Given the description of an element on the screen output the (x, y) to click on. 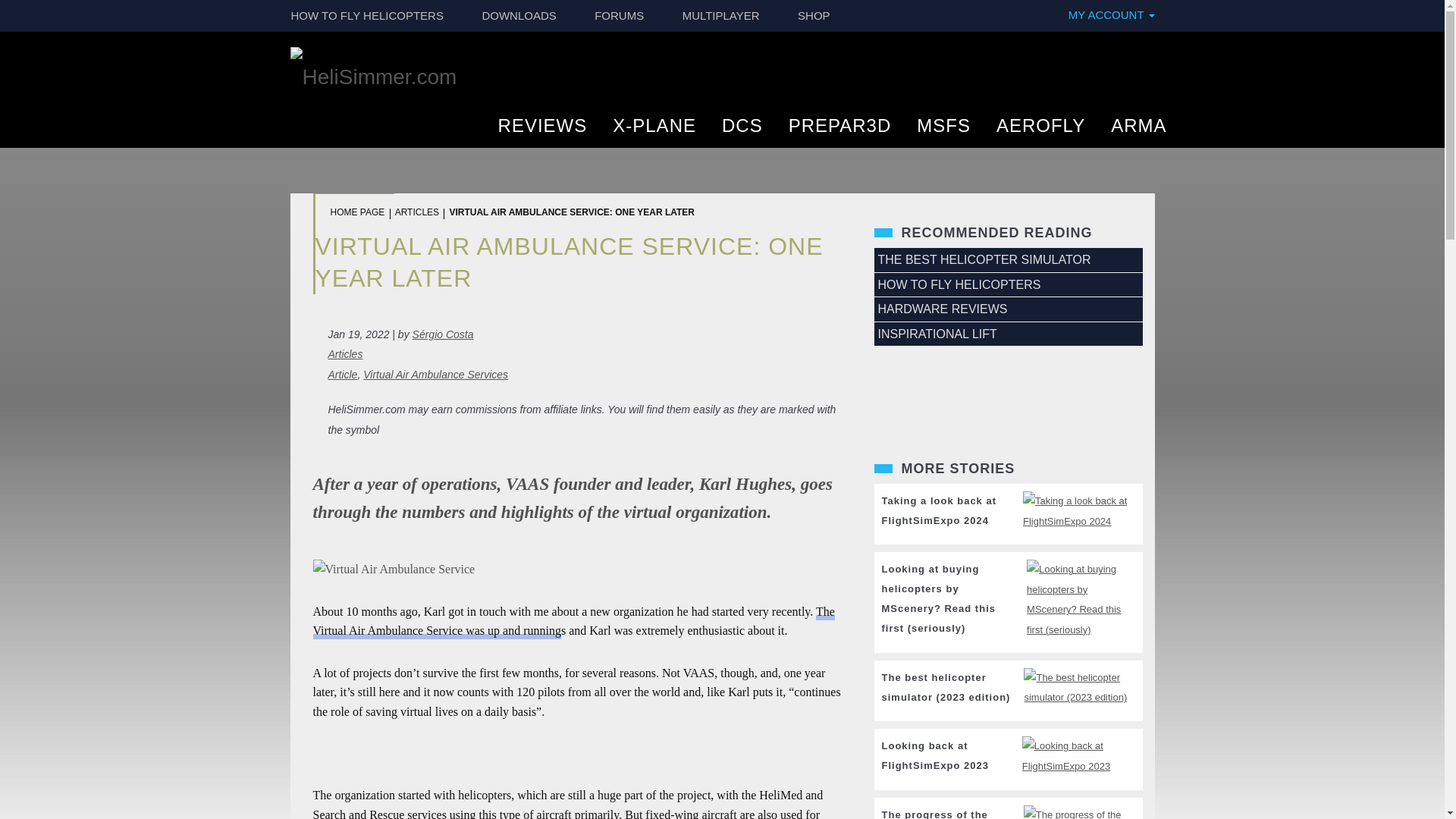
REVIEWS (542, 131)
HOW TO FLY HELICOPTERS (367, 15)
AEROFLY (1040, 131)
MSFS (943, 131)
PREPAR3D (839, 131)
MY ACCOUNT (1109, 15)
DCS (742, 131)
MULTIPLAYER (721, 15)
DOWNLOADS (518, 15)
SHOP (813, 15)
FORUMS (618, 15)
X-PLANE (654, 131)
